Given the description of an element on the screen output the (x, y) to click on. 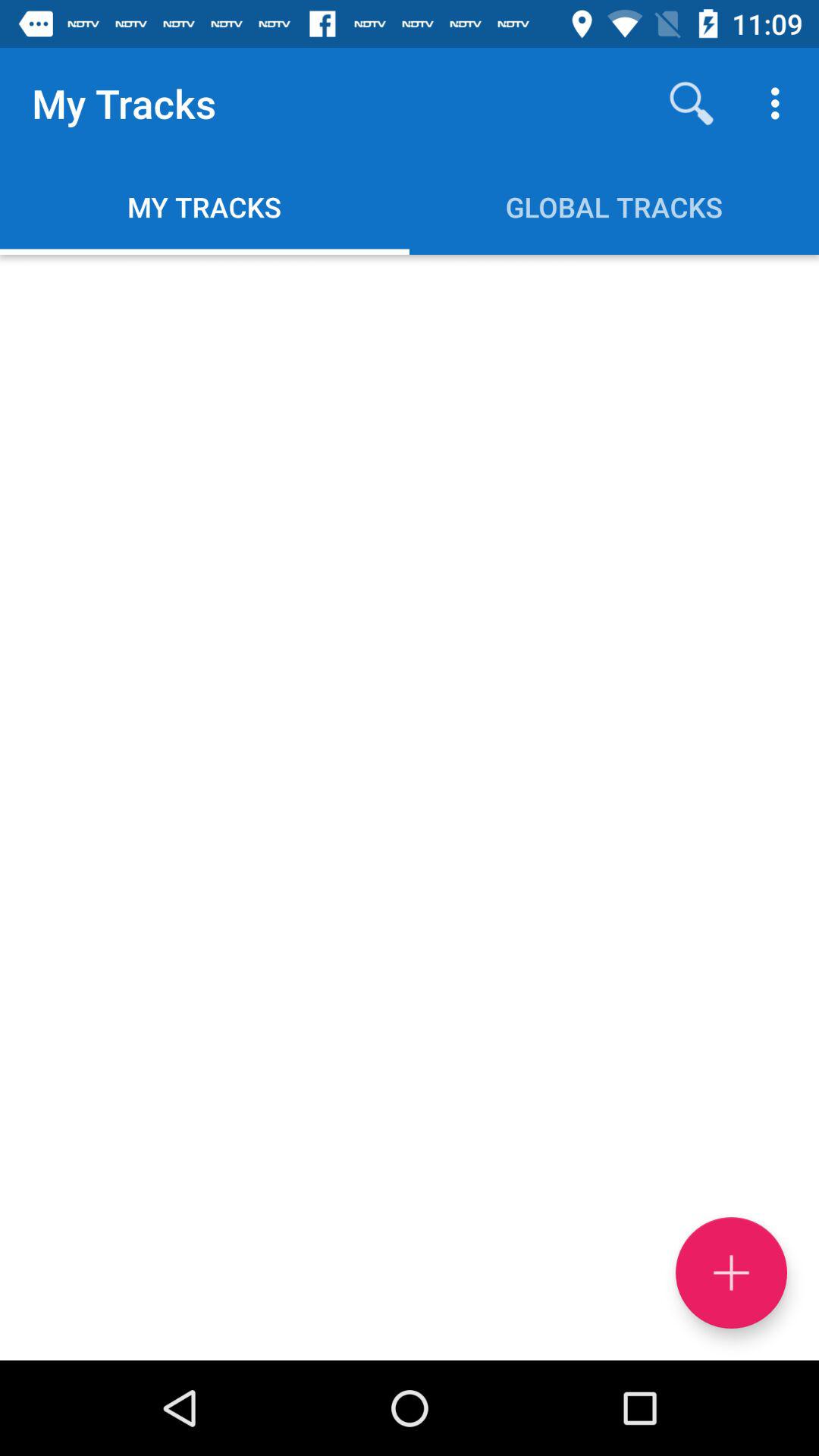
press item below the my tracks item (409, 807)
